Given the description of an element on the screen output the (x, y) to click on. 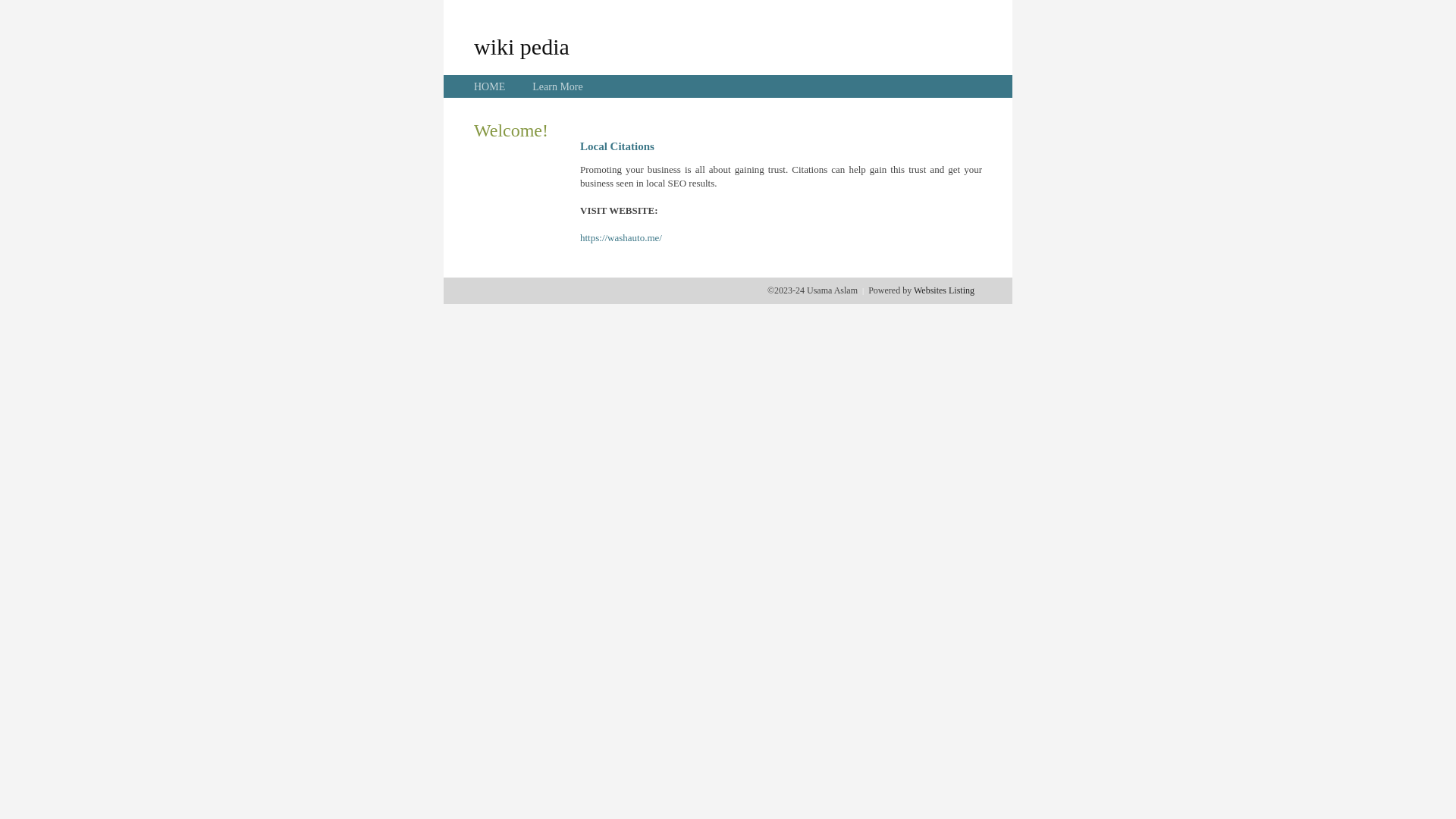
wiki pedia Element type: text (521, 46)
https://washauto.me/ Element type: text (621, 237)
Learn More Element type: text (557, 86)
HOME Element type: text (489, 86)
Websites Listing Element type: text (943, 290)
